Given the description of an element on the screen output the (x, y) to click on. 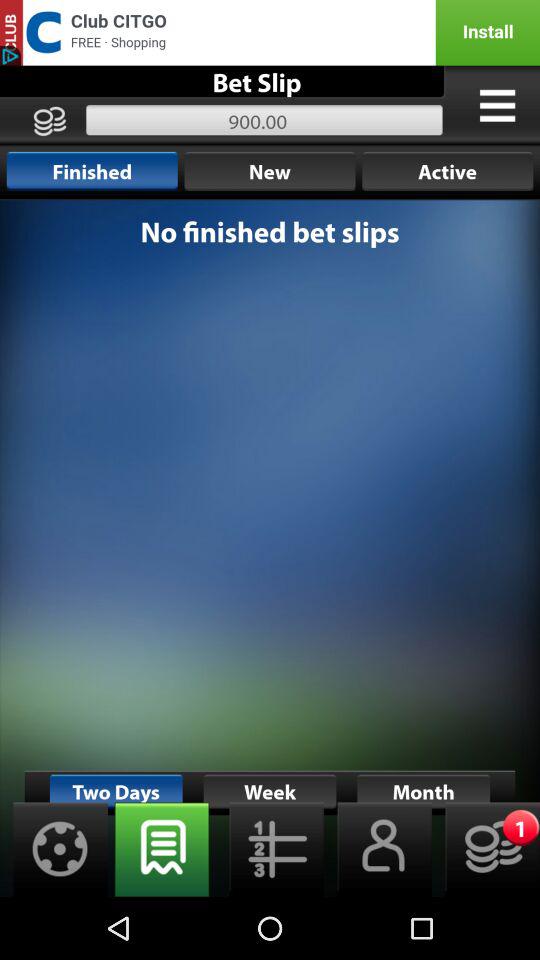
go to setting (54, 849)
